Given the description of an element on the screen output the (x, y) to click on. 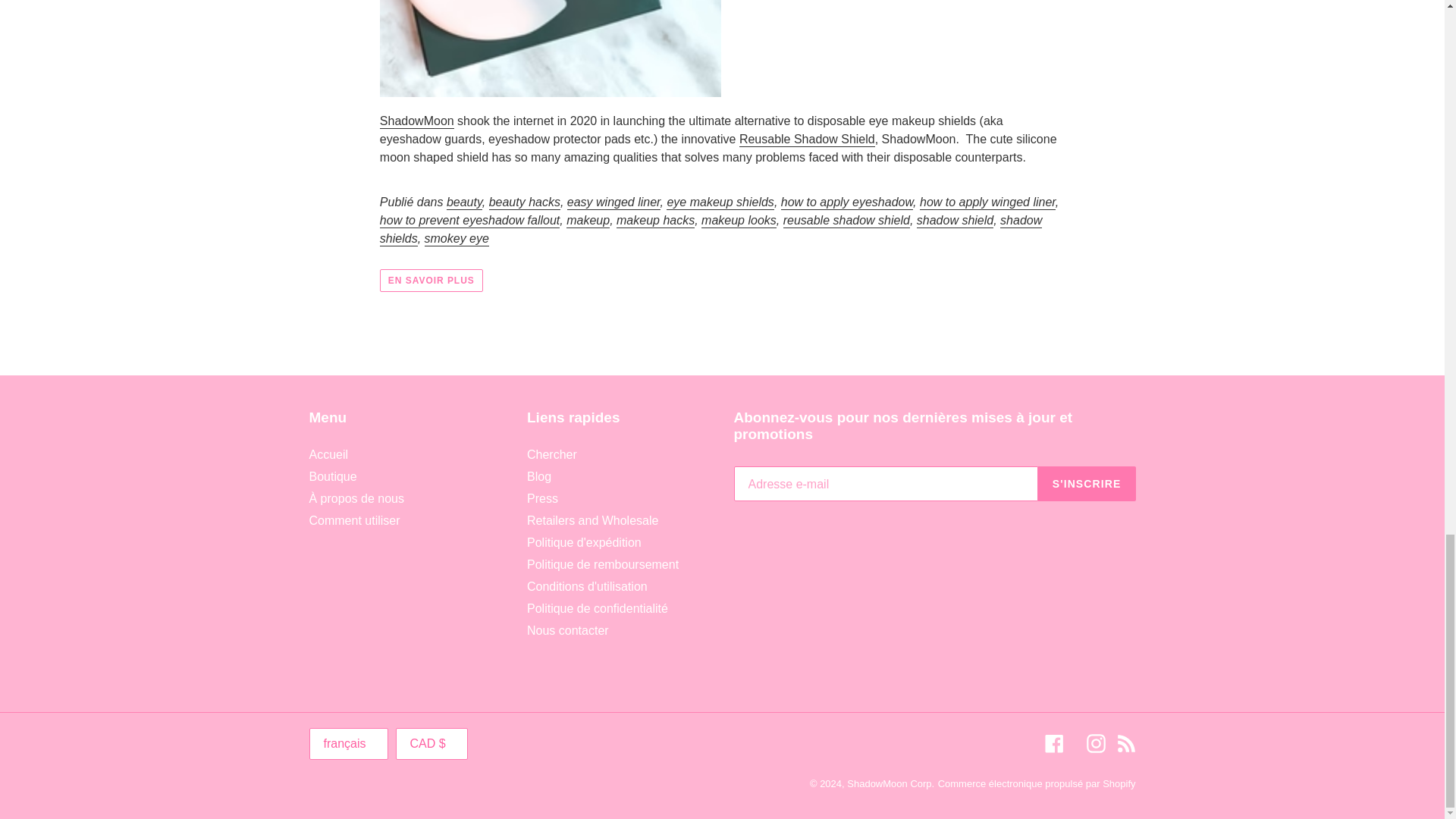
how to apply eyeshadow (846, 202)
beauty (463, 202)
beauty hacks (524, 202)
ShadowMoon (417, 121)
Reusable Shadow Shield (807, 139)
easy winged liner (614, 202)
eye makeup shields (719, 202)
